Given the description of an element on the screen output the (x, y) to click on. 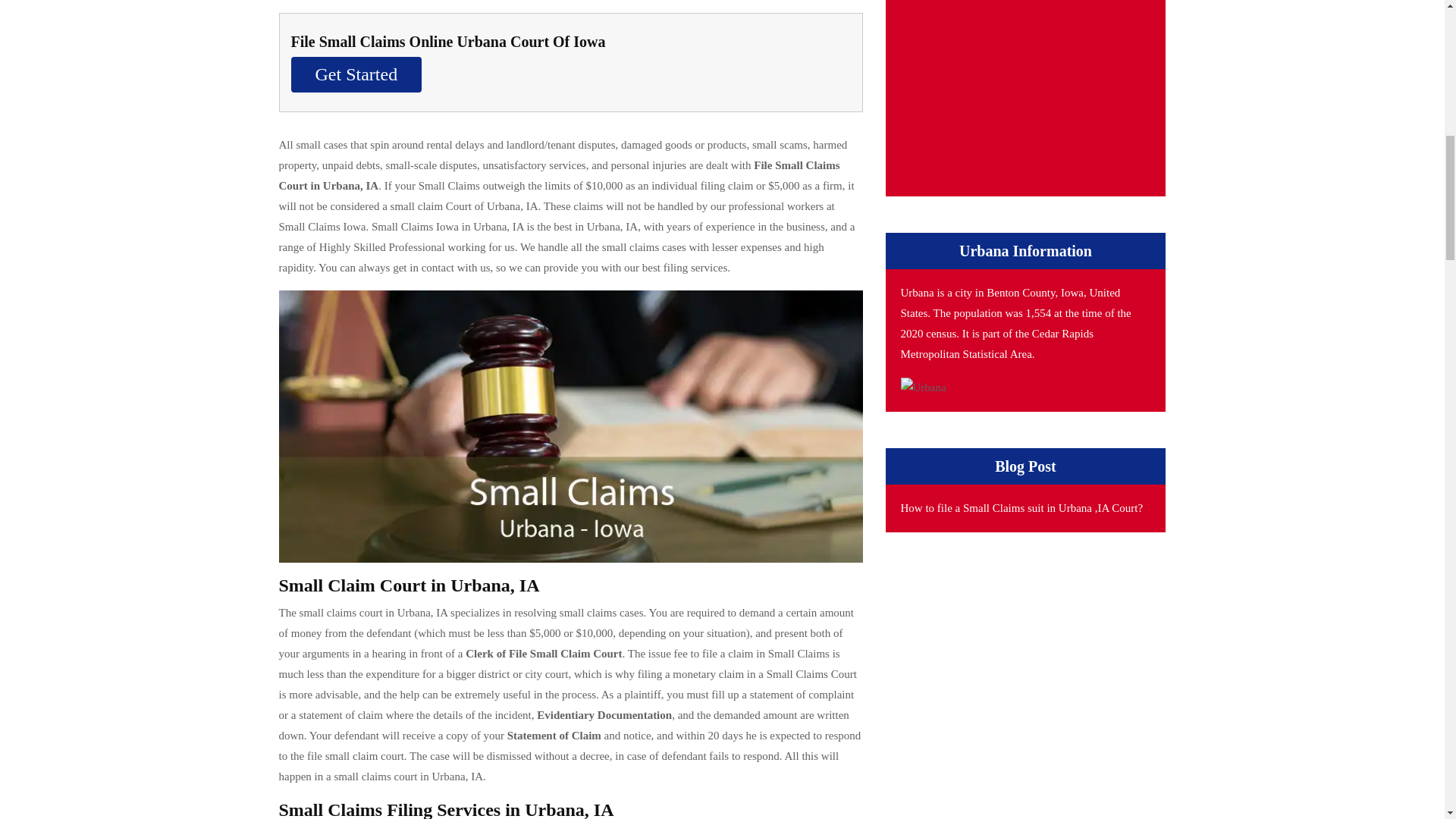
How to file a Small Claims suit in Urbana ,IA Court? (1021, 508)
Get Started (356, 74)
